Given the description of an element on the screen output the (x, y) to click on. 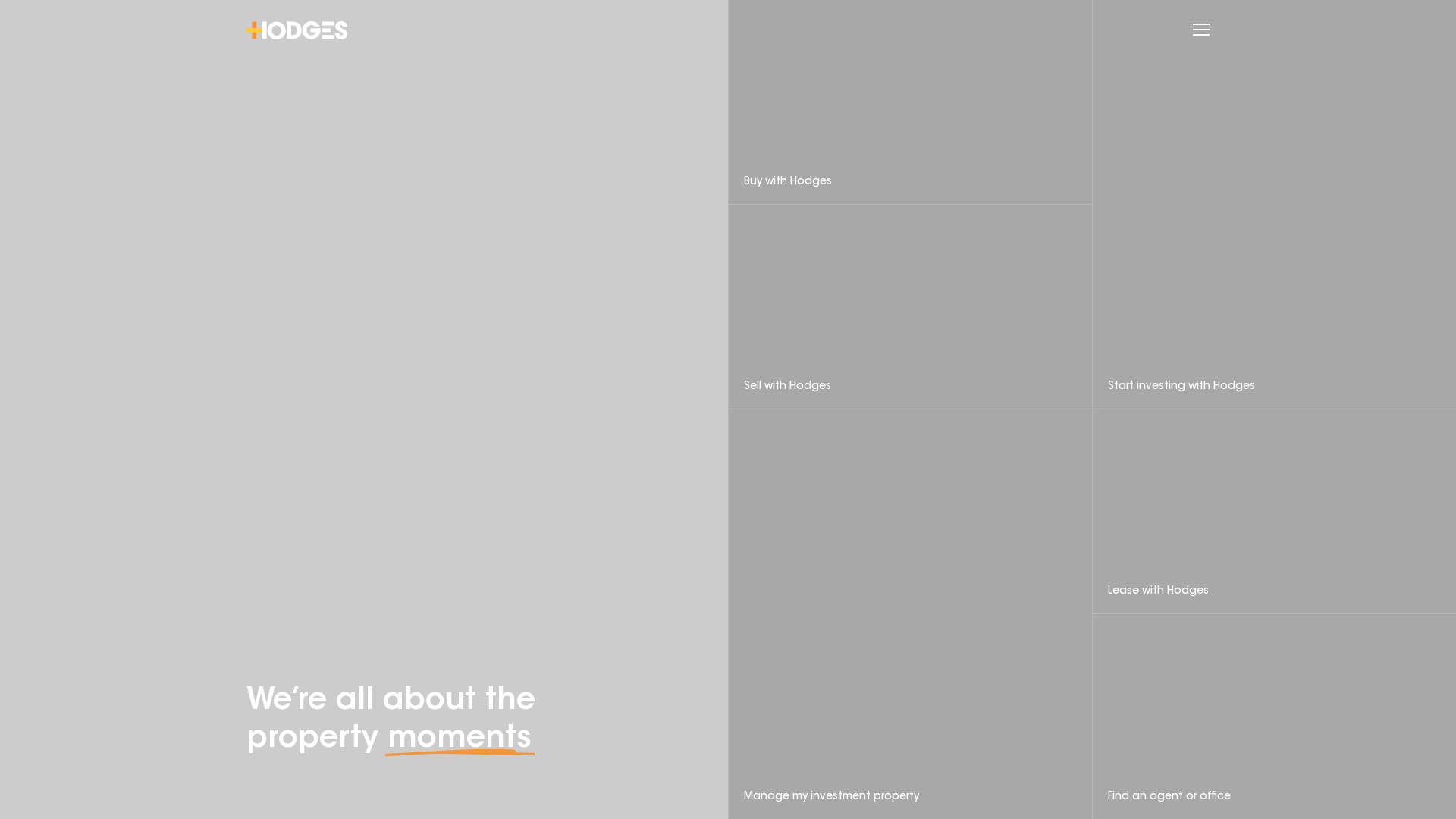
Sell with Hodges Element type: text (910, 306)
Buy with Hodges Element type: text (910, 102)
Hodges Element type: hover (296, 30)
